Given the description of an element on the screen output the (x, y) to click on. 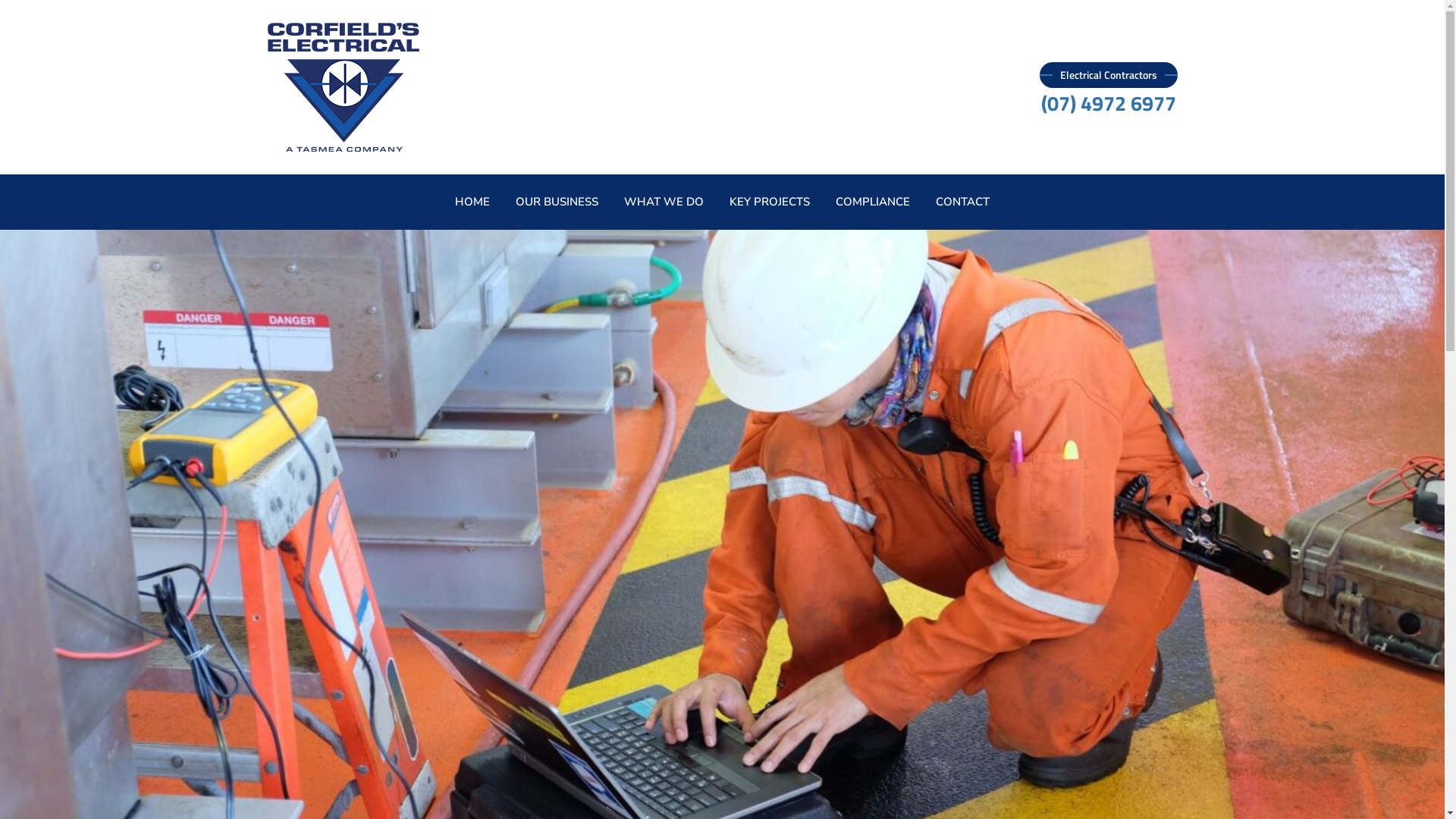
OUR BUSINESS Element type: text (556, 201)
COMPLIANCE Element type: text (872, 201)
HOME Element type: text (472, 201)
WHAT WE DO Element type: text (663, 201)
(07) 4972 6977 Element type: text (1107, 99)
KEY PROJECTS Element type: text (769, 201)
CONTACT Element type: text (962, 201)
